Given the description of an element on the screen output the (x, y) to click on. 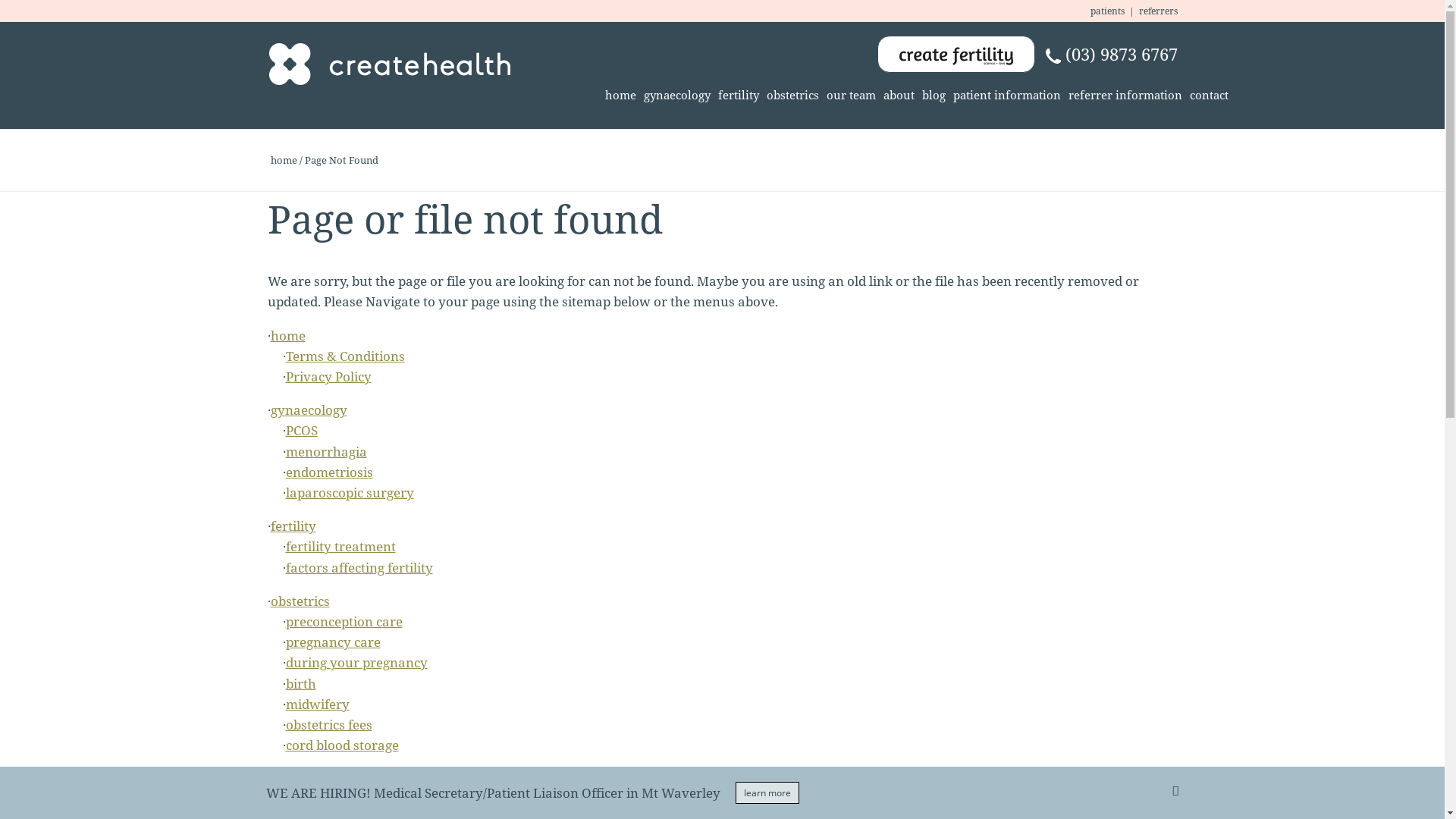
during your pregnancy Element type: text (355, 662)
learn more Element type: text (767, 792)
about Element type: text (898, 95)
gynaecology Element type: text (677, 95)
birth Element type: text (300, 683)
home Element type: text (619, 95)
fertility Element type: text (292, 525)
obstetrics fees Element type: text (328, 724)
laparoscopic surgery Element type: text (349, 492)
Terms & Conditions Element type: text (344, 355)
obstetrics Element type: text (792, 95)
obstetrics Element type: text (299, 600)
midwifery Element type: text (316, 703)
referrer information Element type: text (1125, 95)
home Element type: text (283, 159)
cord blood storage Element type: text (341, 744)
home Element type: text (286, 335)
patient information Element type: text (1006, 95)
pregnancy care Element type: text (332, 641)
contact Element type: text (1209, 95)
endometriosis Element type: text (328, 471)
PCOS Element type: text (300, 430)
Page Not Found Element type: text (341, 159)
Dr Mei Cheah Element type: text (326, 799)
fertility Element type: text (738, 95)
menorrhagia Element type: text (325, 451)
our team Element type: text (850, 95)
blog Element type: text (932, 95)
factors affecting fertility Element type: text (358, 567)
gynaecology Element type: text (307, 409)
patients Element type: text (1107, 10)
Privacy Policy Element type: text (327, 376)
our team Element type: text (297, 778)
referrers Element type: text (1158, 10)
(03) 9873 6767 Element type: text (1110, 53)
fertility treatment Element type: text (340, 546)
preconception care Element type: text (343, 621)
